Given the description of an element on the screen output the (x, y) to click on. 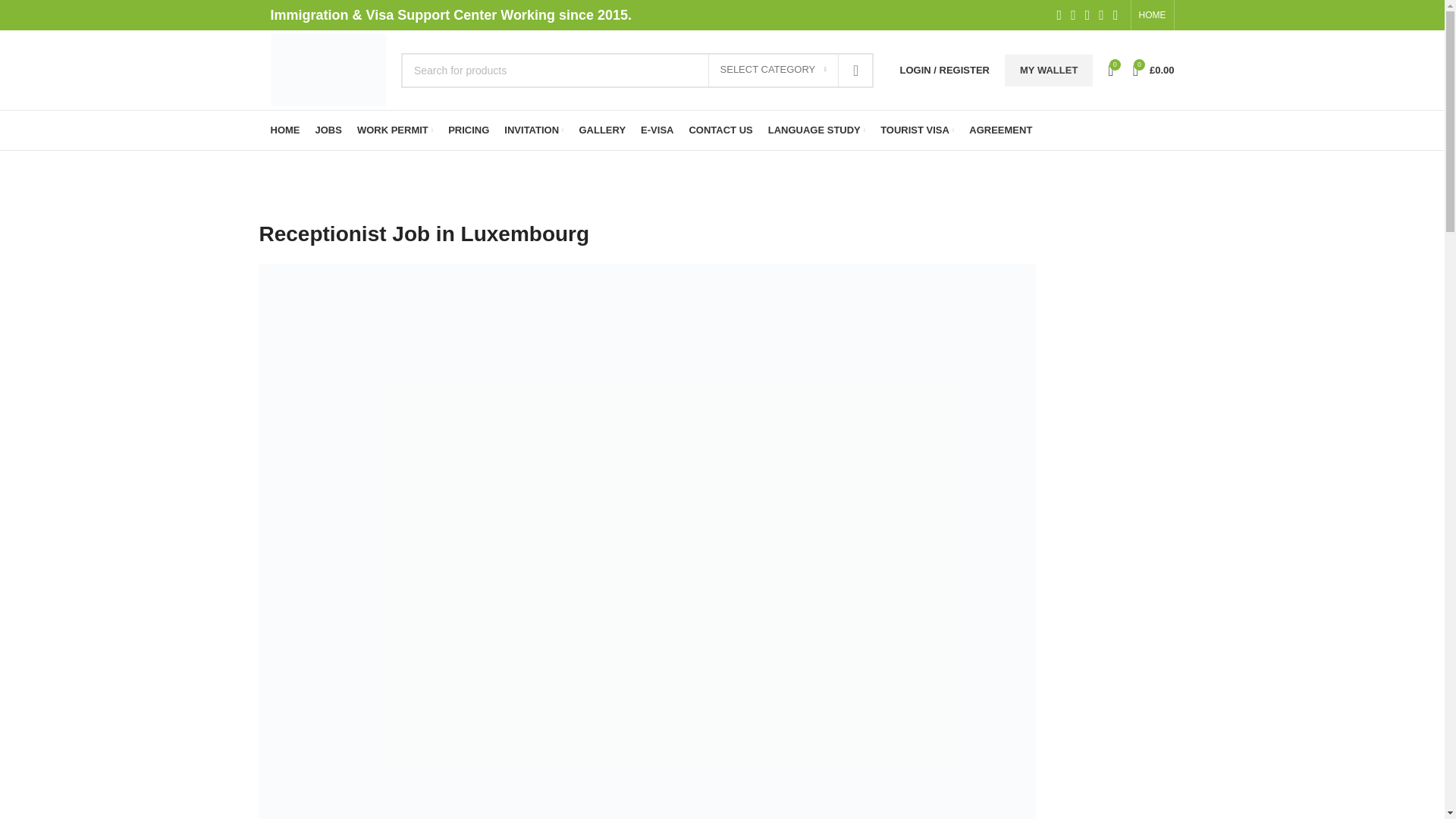
My account (944, 69)
Shopping cart (1153, 69)
SELECT CATEGORY (772, 70)
HOME (1152, 15)
WORK PERMIT (394, 130)
SELECT CATEGORY (772, 70)
Search for products (637, 70)
SEARCH (855, 70)
HOME (284, 130)
MY WALLET (1048, 70)
